Given the description of an element on the screen output the (x, y) to click on. 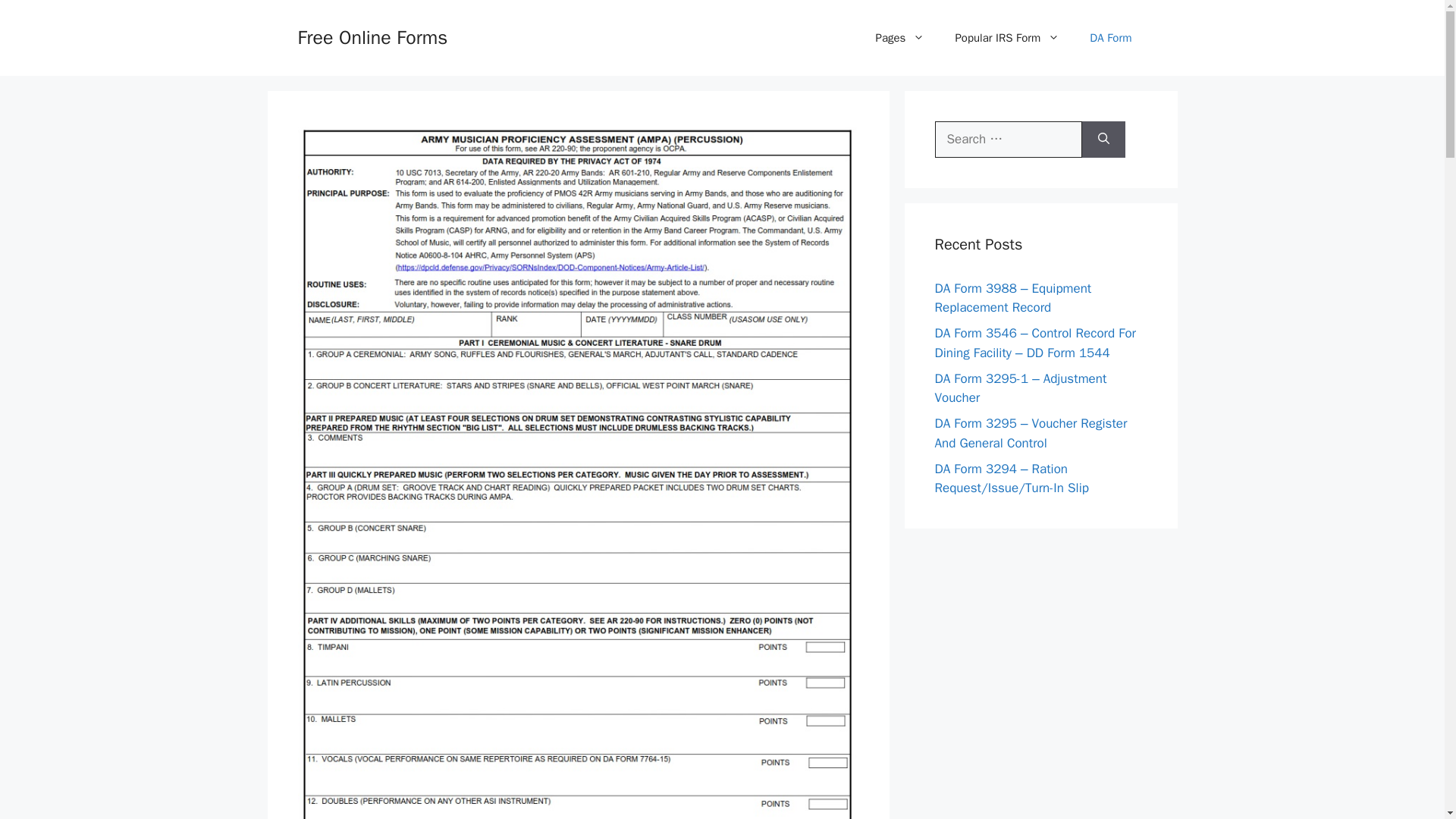
Free Online Forms (371, 37)
Pages (900, 37)
DA Form (1110, 37)
Popular IRS Form (1006, 37)
Search for: (1007, 139)
